Given the description of an element on the screen output the (x, y) to click on. 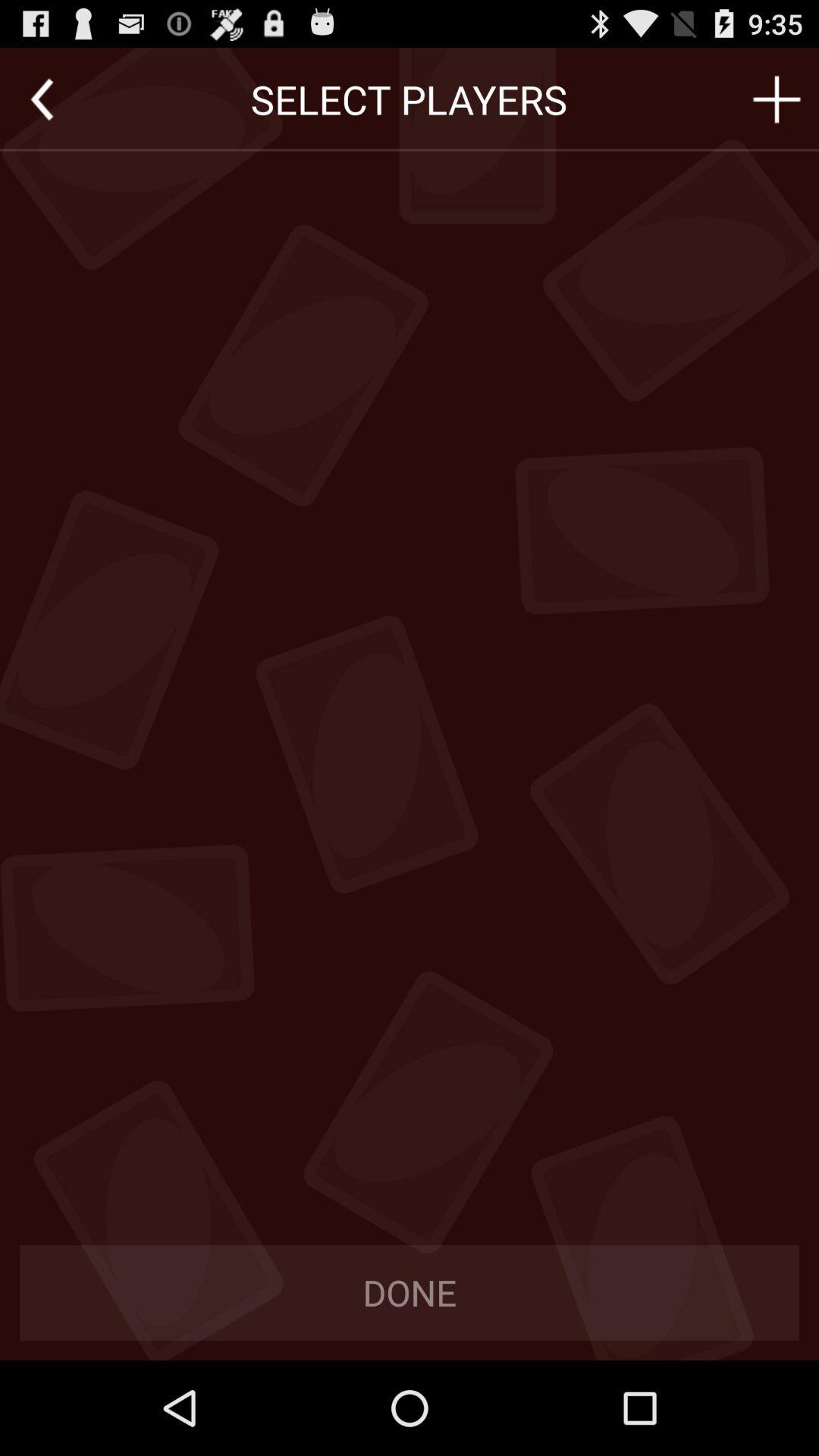
go back to previous screen (42, 99)
